Given the description of an element on the screen output the (x, y) to click on. 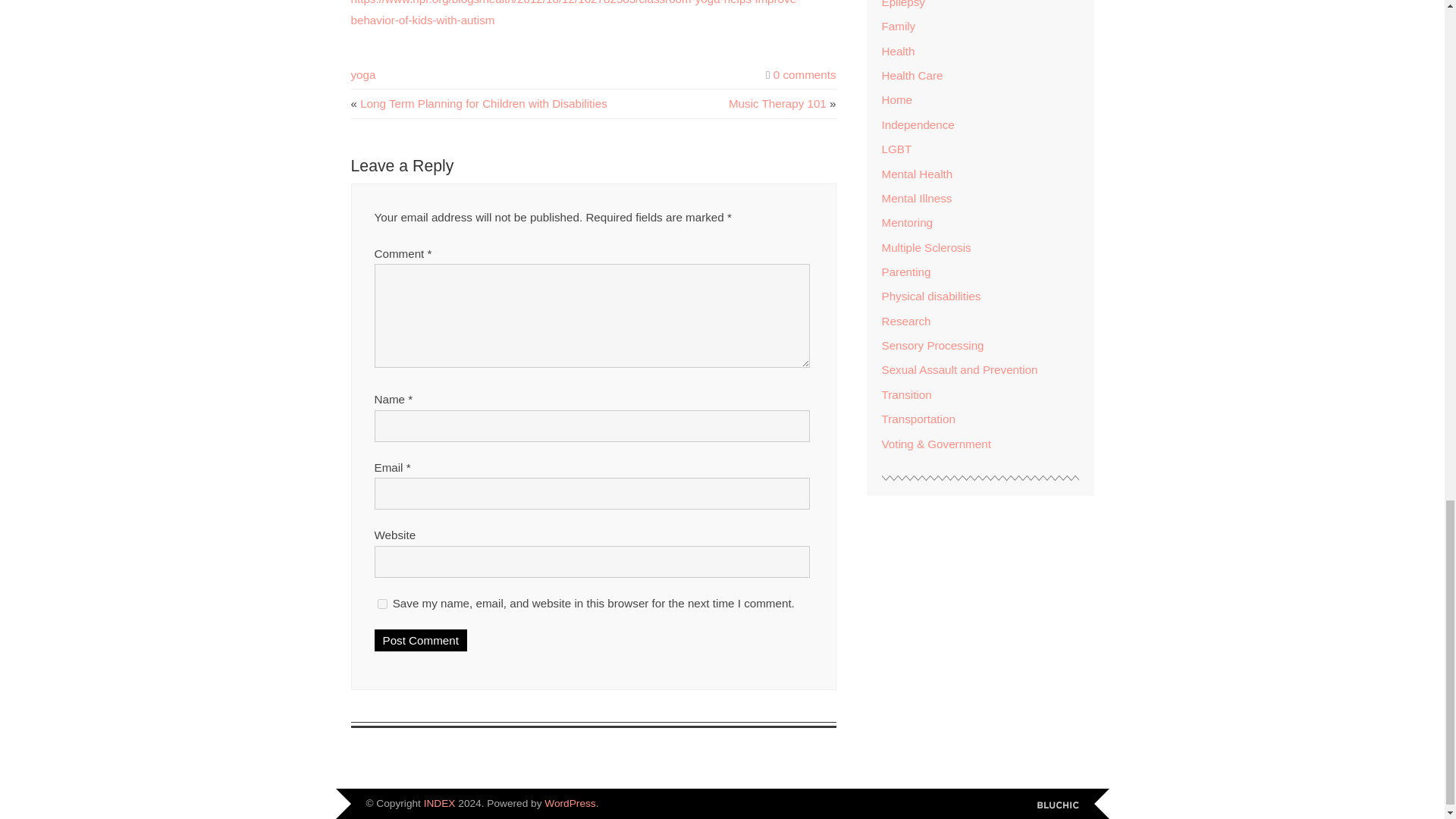
Long Term Planning for Children with Disabilities (483, 103)
Music Therapy 101 (778, 103)
Post Comment (420, 640)
0 comments (804, 74)
yoga (362, 74)
Post Comment (420, 640)
yes (382, 603)
